Given the description of an element on the screen output the (x, y) to click on. 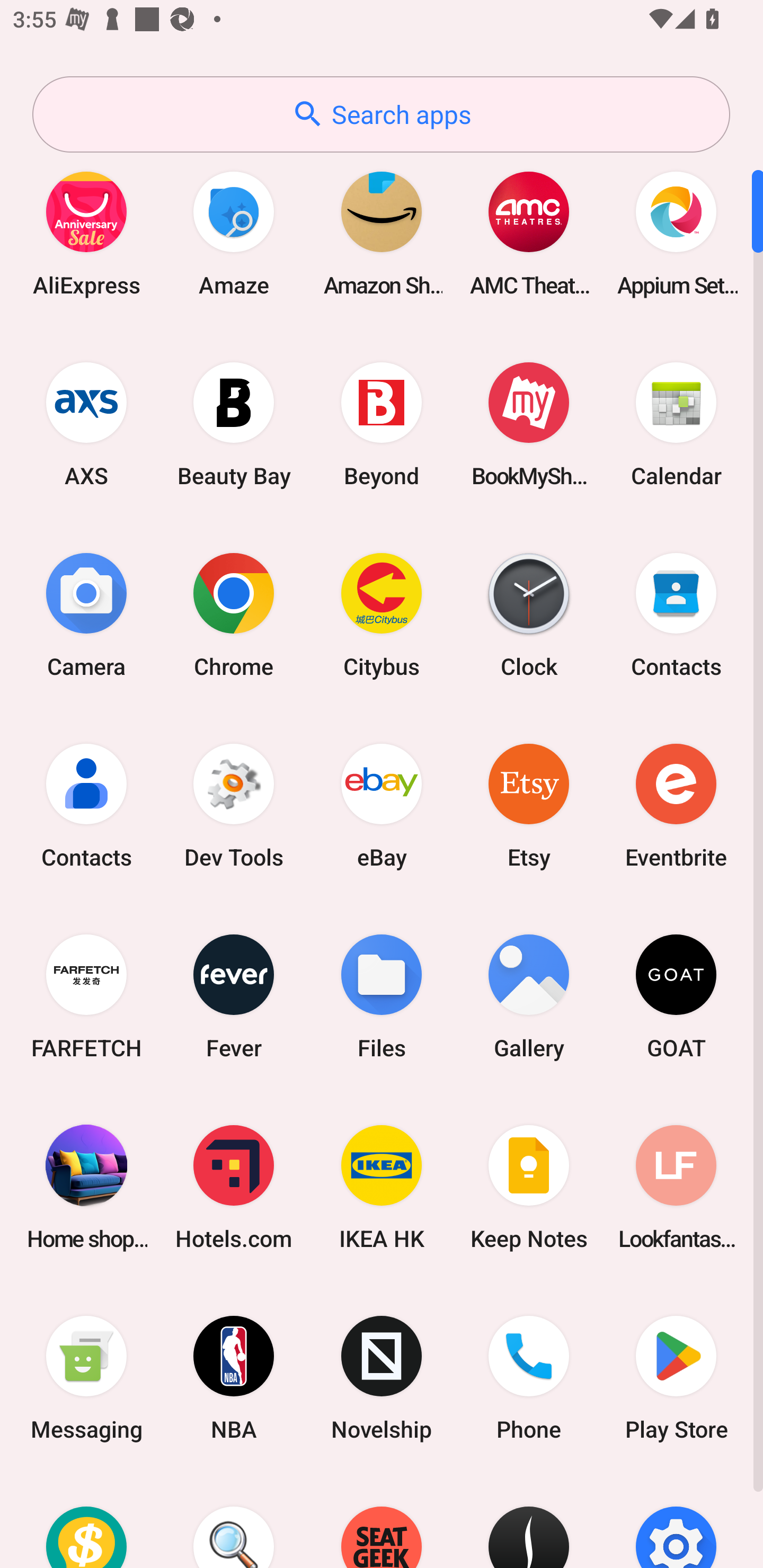
  Search apps (381, 114)
AliExpress (86, 233)
Amaze (233, 233)
Amazon Shopping (381, 233)
AMC Theatres (528, 233)
Appium Settings (676, 233)
AXS (86, 424)
Beauty Bay (233, 424)
Beyond (381, 424)
BookMyShow (528, 424)
Calendar (676, 424)
Camera (86, 614)
Chrome (233, 614)
Citybus (381, 614)
Clock (528, 614)
Contacts (676, 614)
Contacts (86, 805)
Dev Tools (233, 805)
eBay (381, 805)
Etsy (528, 805)
Eventbrite (676, 805)
FARFETCH (86, 996)
Fever (233, 996)
Files (381, 996)
Gallery (528, 996)
GOAT (676, 996)
Home shopping (86, 1186)
Hotels.com (233, 1186)
IKEA HK (381, 1186)
Keep Notes (528, 1186)
Lookfantastic (676, 1186)
Messaging (86, 1377)
NBA (233, 1377)
Novelship (381, 1377)
Phone (528, 1377)
Play Store (676, 1377)
